Given the description of an element on the screen output the (x, y) to click on. 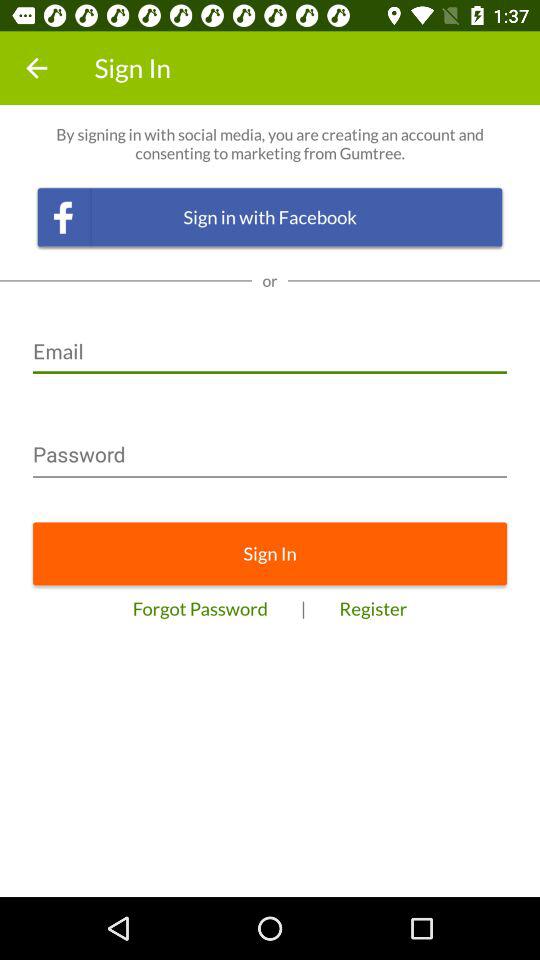
choose item next to | item (199, 608)
